Given the description of an element on the screen output the (x, y) to click on. 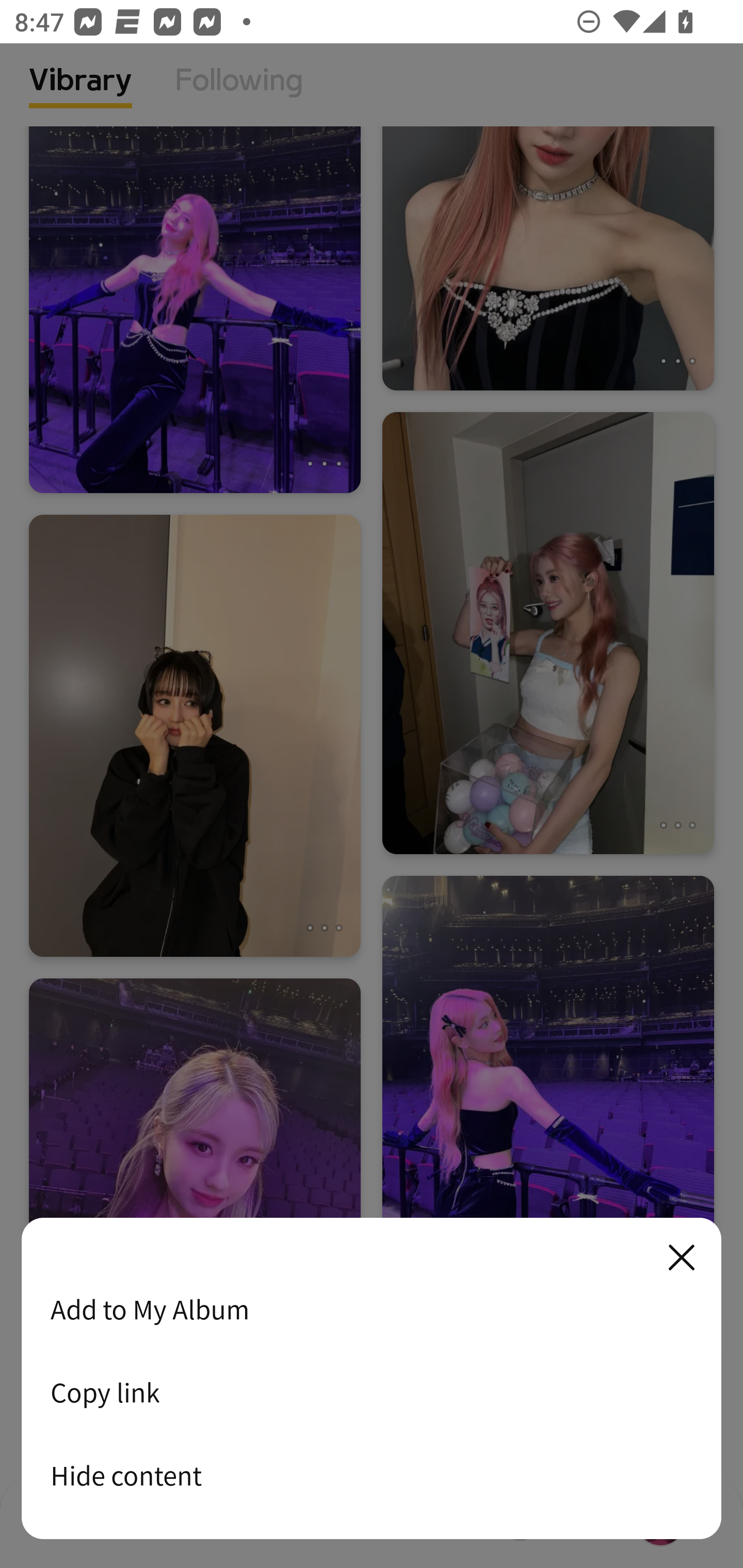
Add to My Album Copy link Hide content (371, 1378)
Add to My Album (371, 1308)
Copy link (371, 1391)
Hide content (371, 1474)
